Given the description of an element on the screen output the (x, y) to click on. 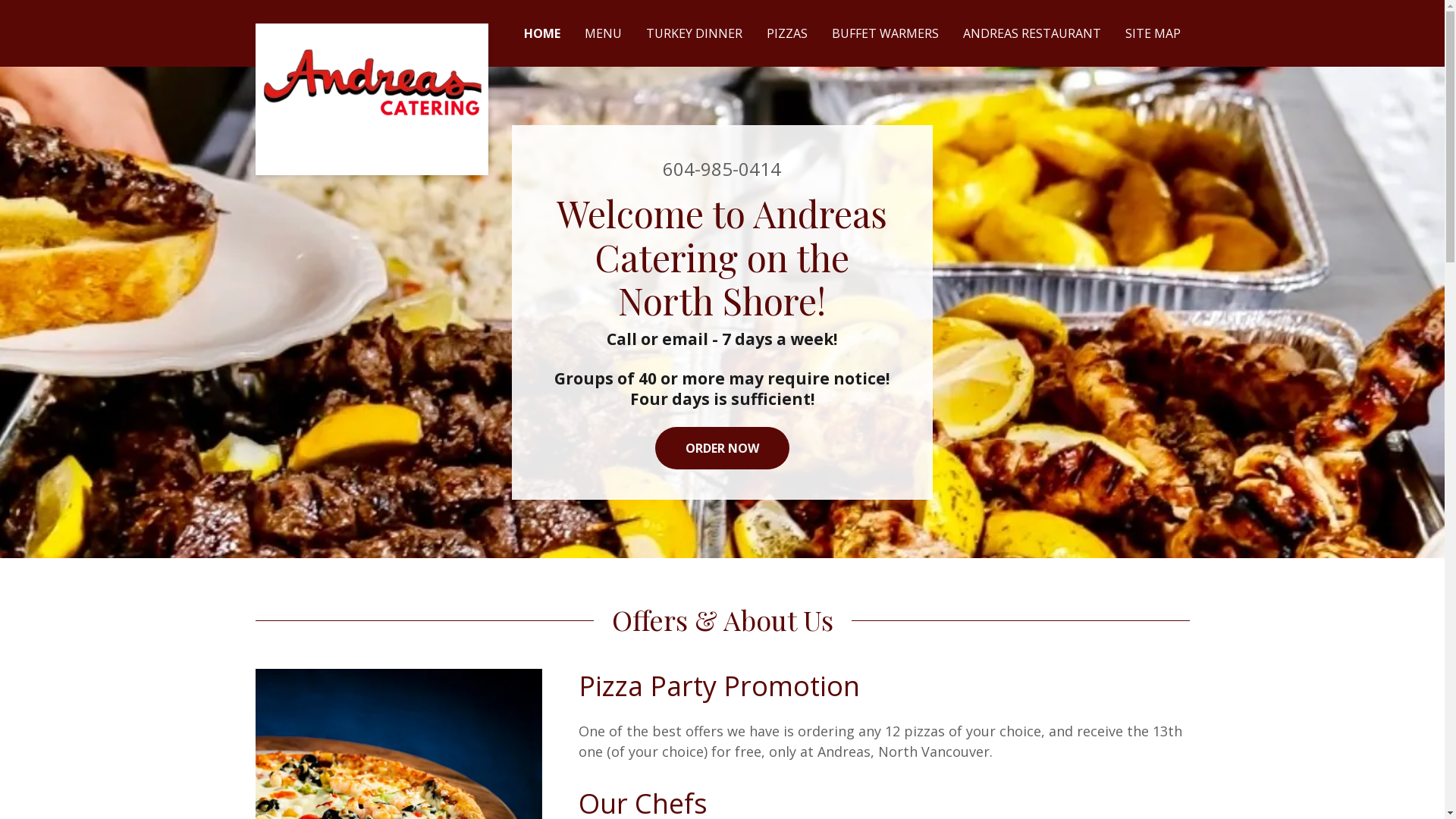
TURKEY DINNER Element type: text (693, 33)
Andreas Catering  Element type: hover (371, 30)
ANDREAS RESTAURANT Element type: text (1031, 33)
HOME Element type: text (541, 33)
PIZZAS Element type: text (786, 33)
604-985-0414 Element type: text (721, 168)
SITE MAP Element type: text (1152, 33)
BUFFET WARMERS Element type: text (884, 33)
ORDER NOW Element type: text (722, 447)
MENU Element type: text (602, 33)
